Given the description of an element on the screen output the (x, y) to click on. 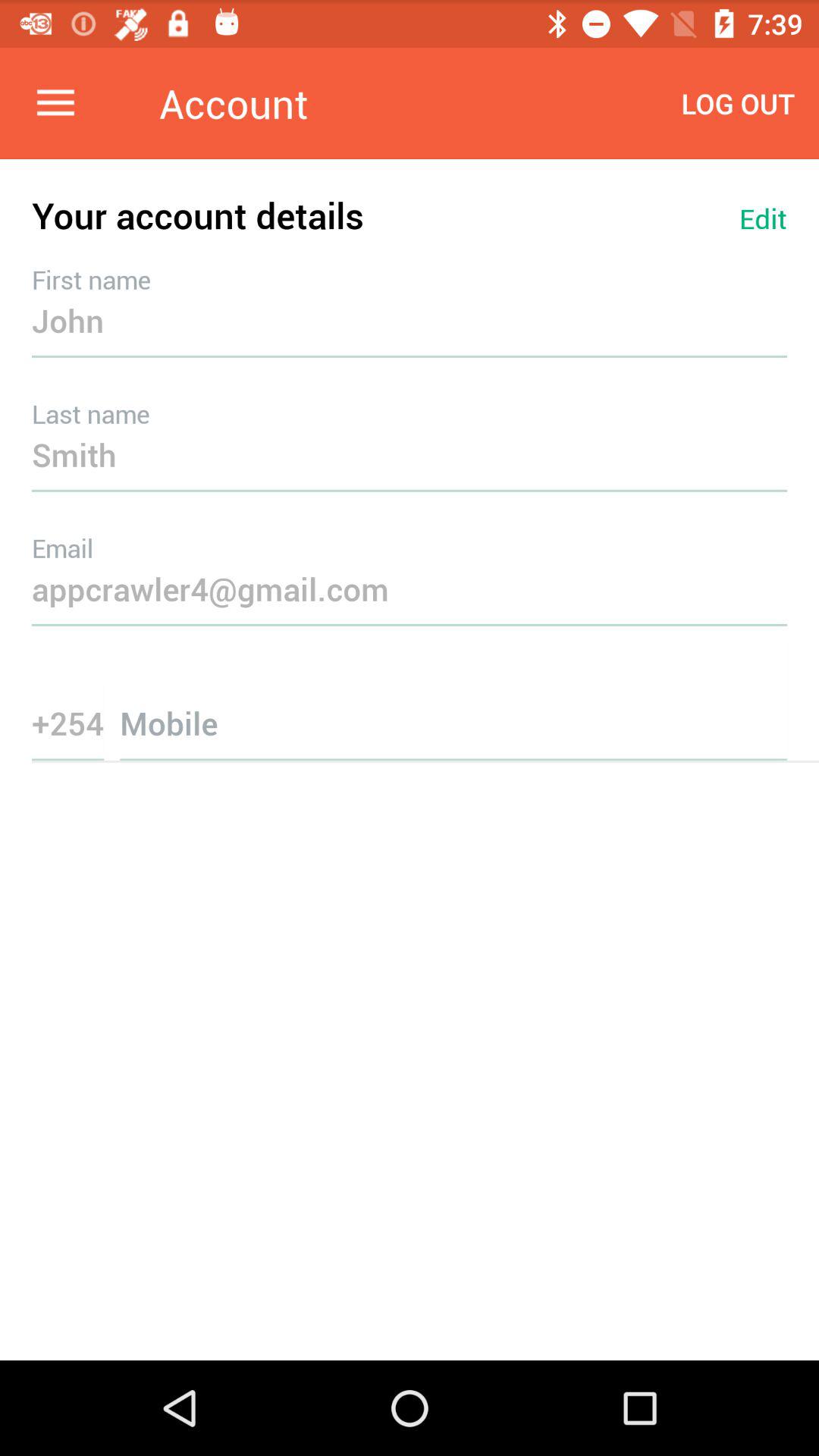
turn off the icon to the left of account (55, 103)
